Given the description of an element on the screen output the (x, y) to click on. 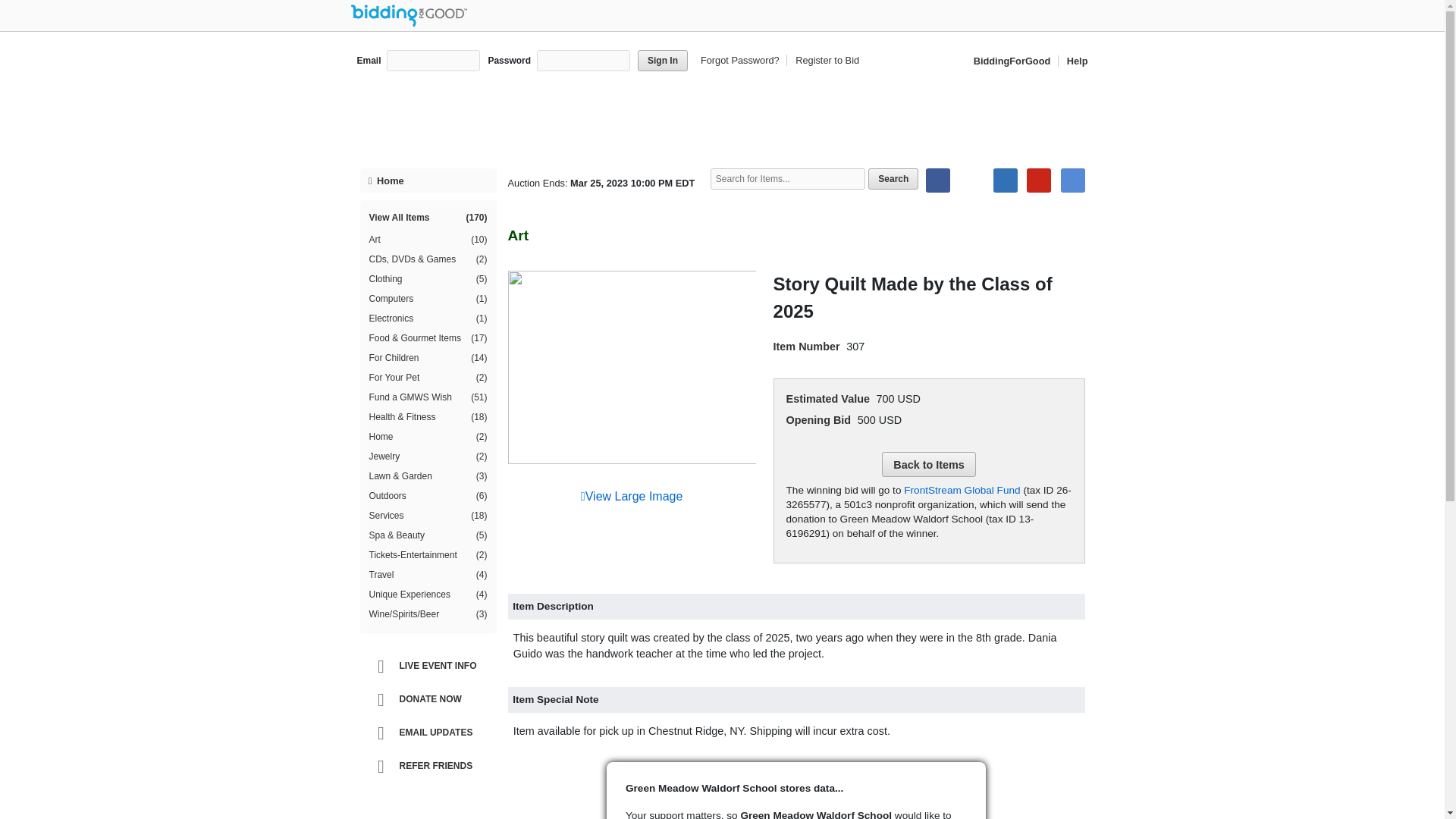
Back to Items (928, 463)
Register to Bid (824, 60)
Forgot Password? (741, 60)
LinkedIn (1004, 180)
Facebook (938, 180)
DONATE NOW (431, 699)
Home (427, 180)
Search (892, 178)
BiddingForGood (1013, 60)
